Given the description of an element on the screen output the (x, y) to click on. 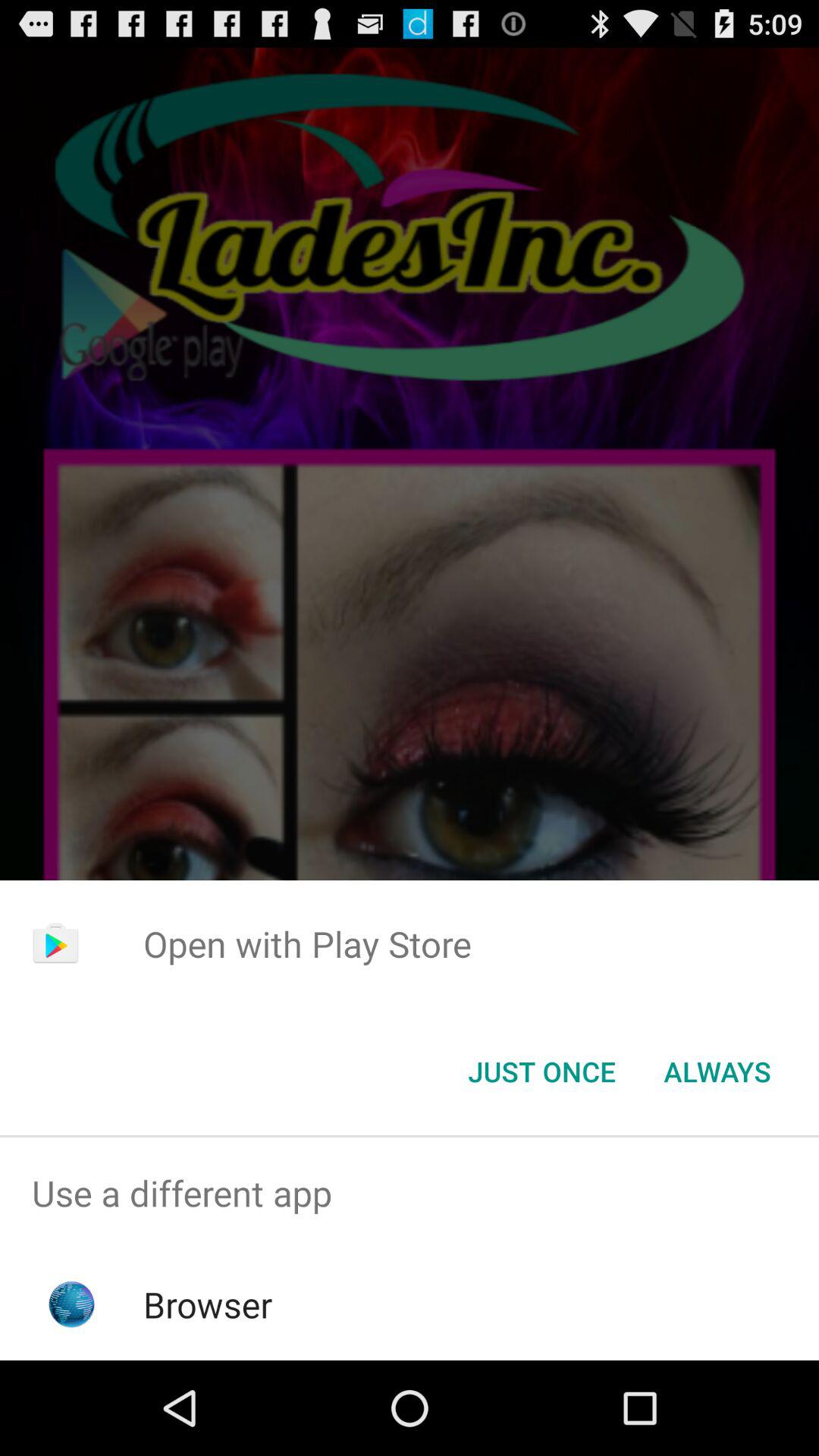
swipe to the always icon (717, 1071)
